Given the description of an element on the screen output the (x, y) to click on. 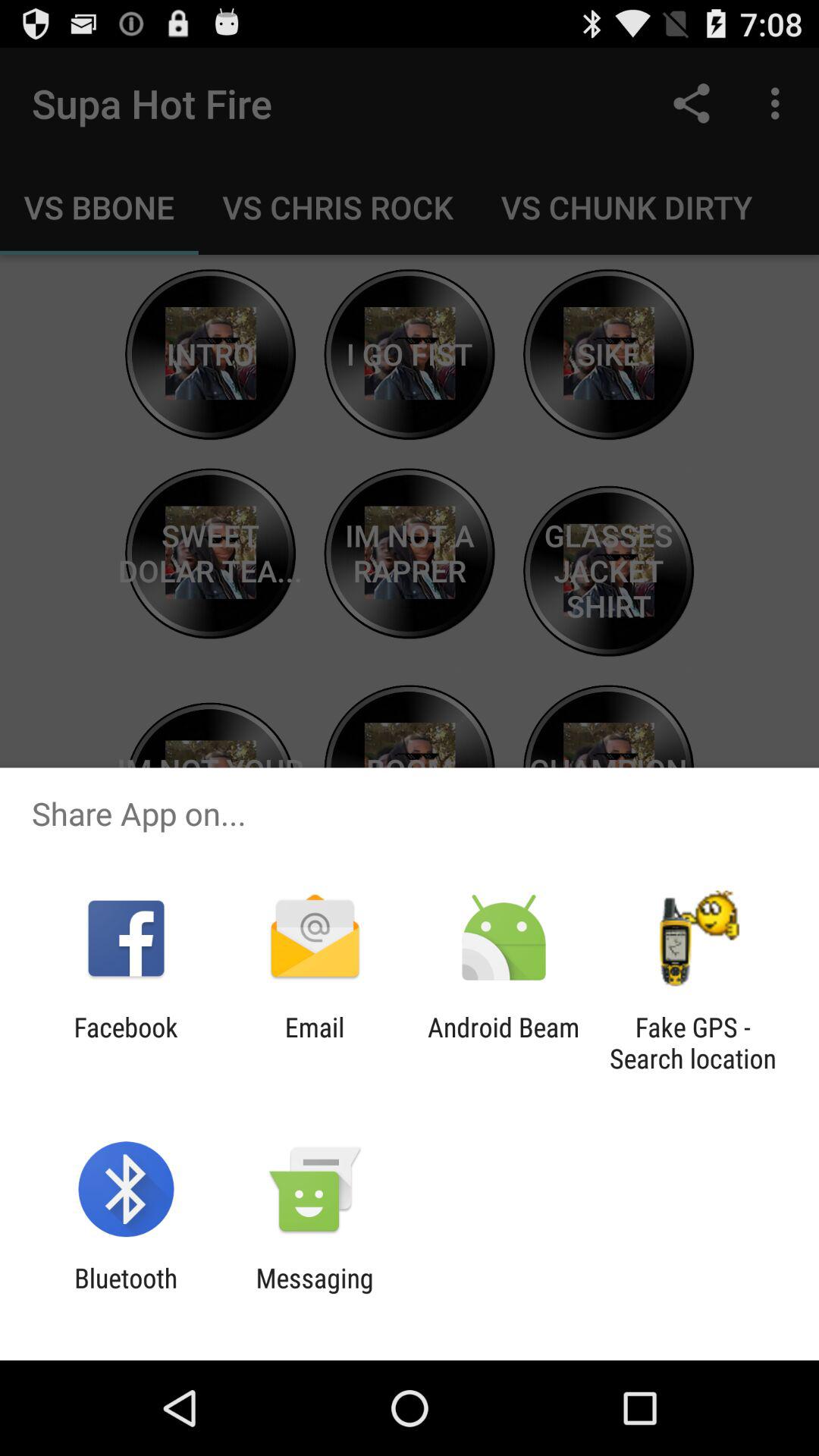
select bluetooth icon (125, 1293)
